Given the description of an element on the screen output the (x, y) to click on. 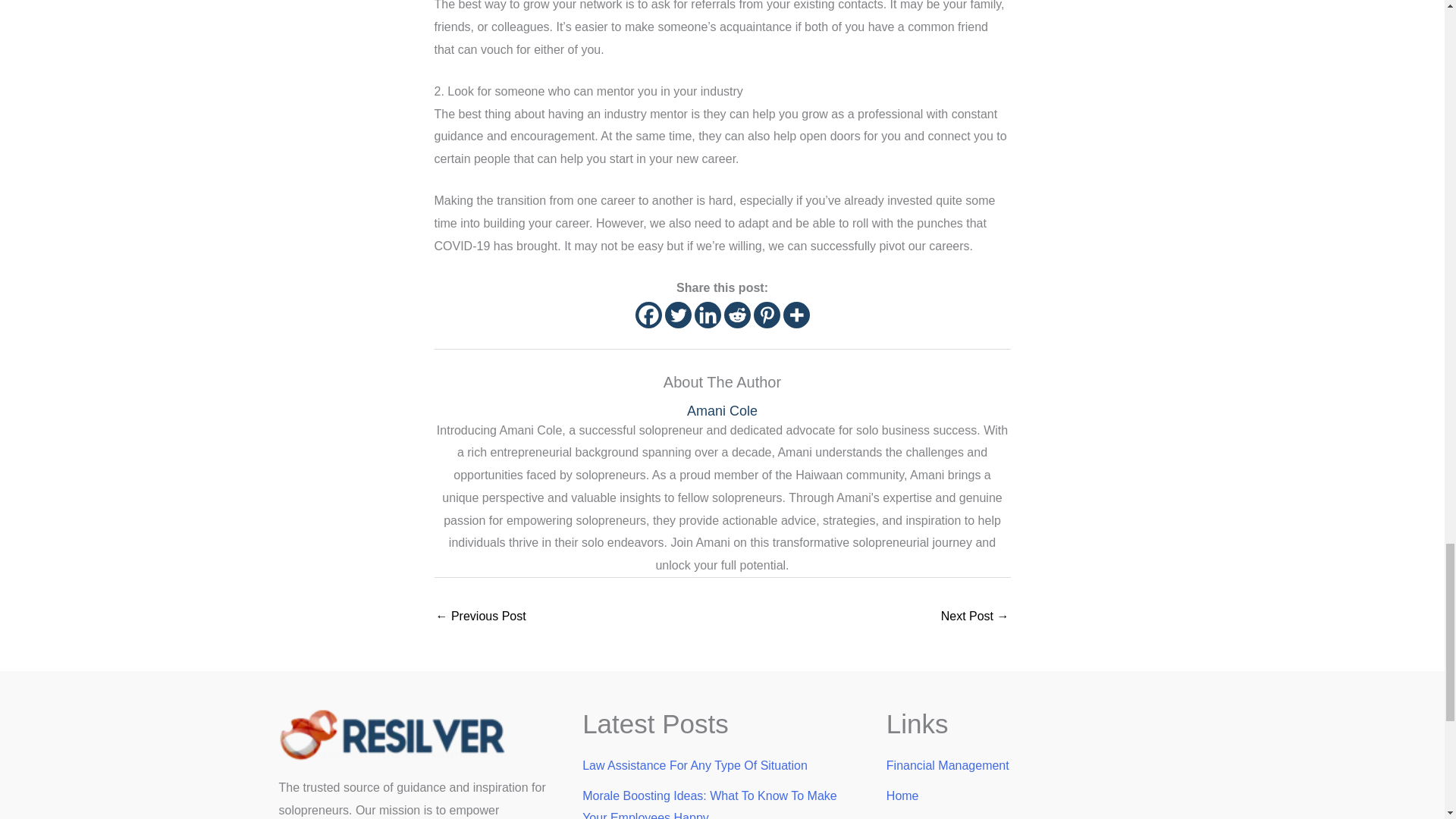
Twitter (676, 315)
Amani Cole (721, 411)
Law Assistance For Any Type Of Situation (695, 765)
Reddit (736, 315)
Financial Management (947, 765)
Pinterest (767, 315)
Home (902, 795)
More (796, 315)
Facebook (648, 315)
Linkedin (707, 315)
